Given the description of an element on the screen output the (x, y) to click on. 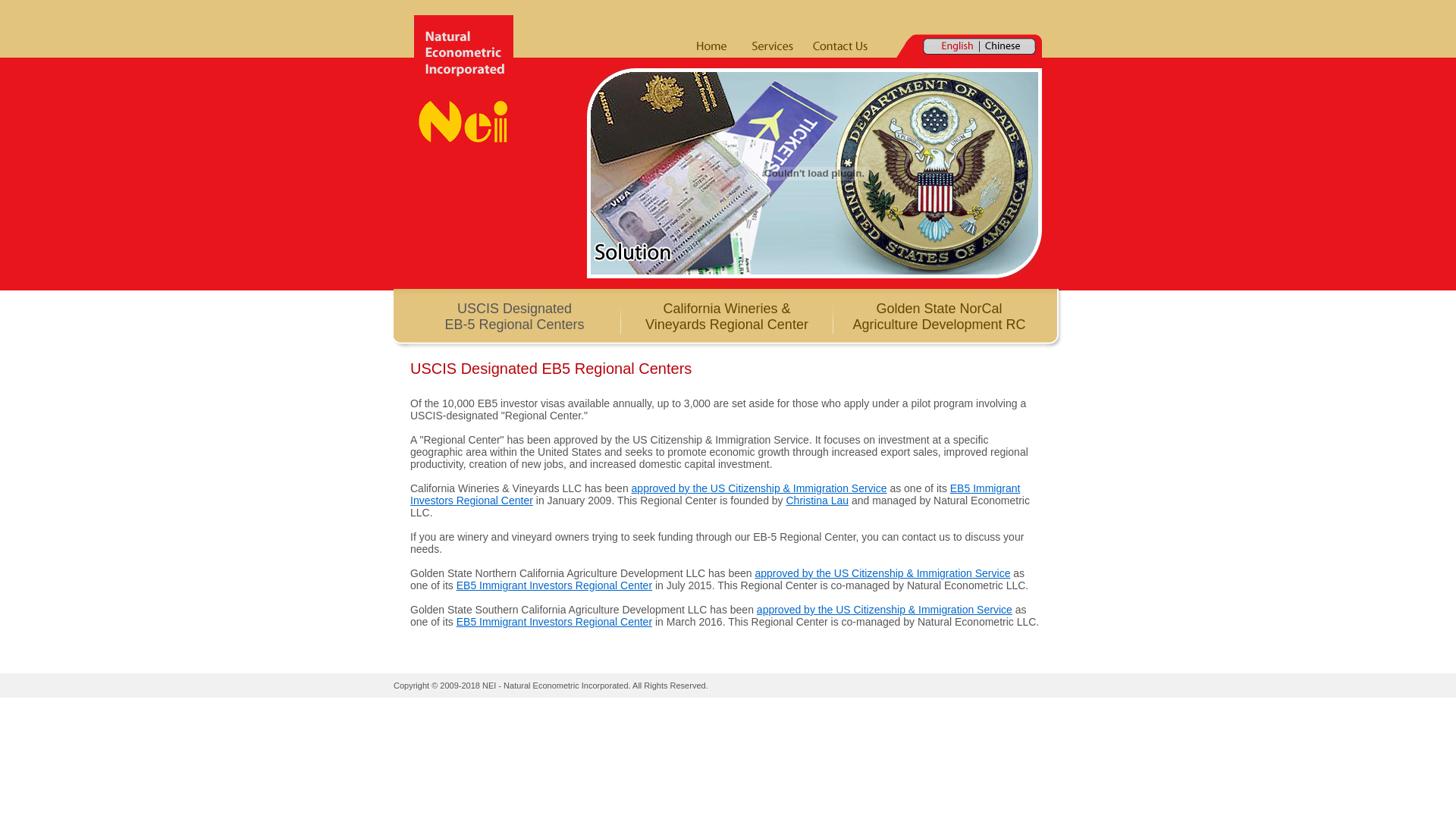
English Element type: hover (956, 46)
approved by the US Citizenship & Immigration Service Element type: text (882, 573)
EB5 Immigrant Investors Regional Center Element type: text (714, 494)
Golden State NorCal Agriculture Development RC Element type: text (938, 317)
California Wineries &
Vineyards Regional Center Element type: text (726, 317)
logo Element type: hover (463, 79)
EB5 Immigrant Investors Regional Center Element type: text (554, 621)
EB5 Immigrant Investors Regional Center Element type: text (554, 585)
Christina Lau Element type: text (816, 500)
Home Element type: hover (711, 45)
Contact Element type: hover (840, 45)
Service Element type: hover (772, 45)
approved by the US Citizenship & Immigration Service Element type: text (759, 488)
approved by the US Citizenship & Immigration Service Element type: text (884, 609)
  Element type: text (463, 79)
Chinese Element type: hover (1002, 45)
